Given the description of an element on the screen output the (x, y) to click on. 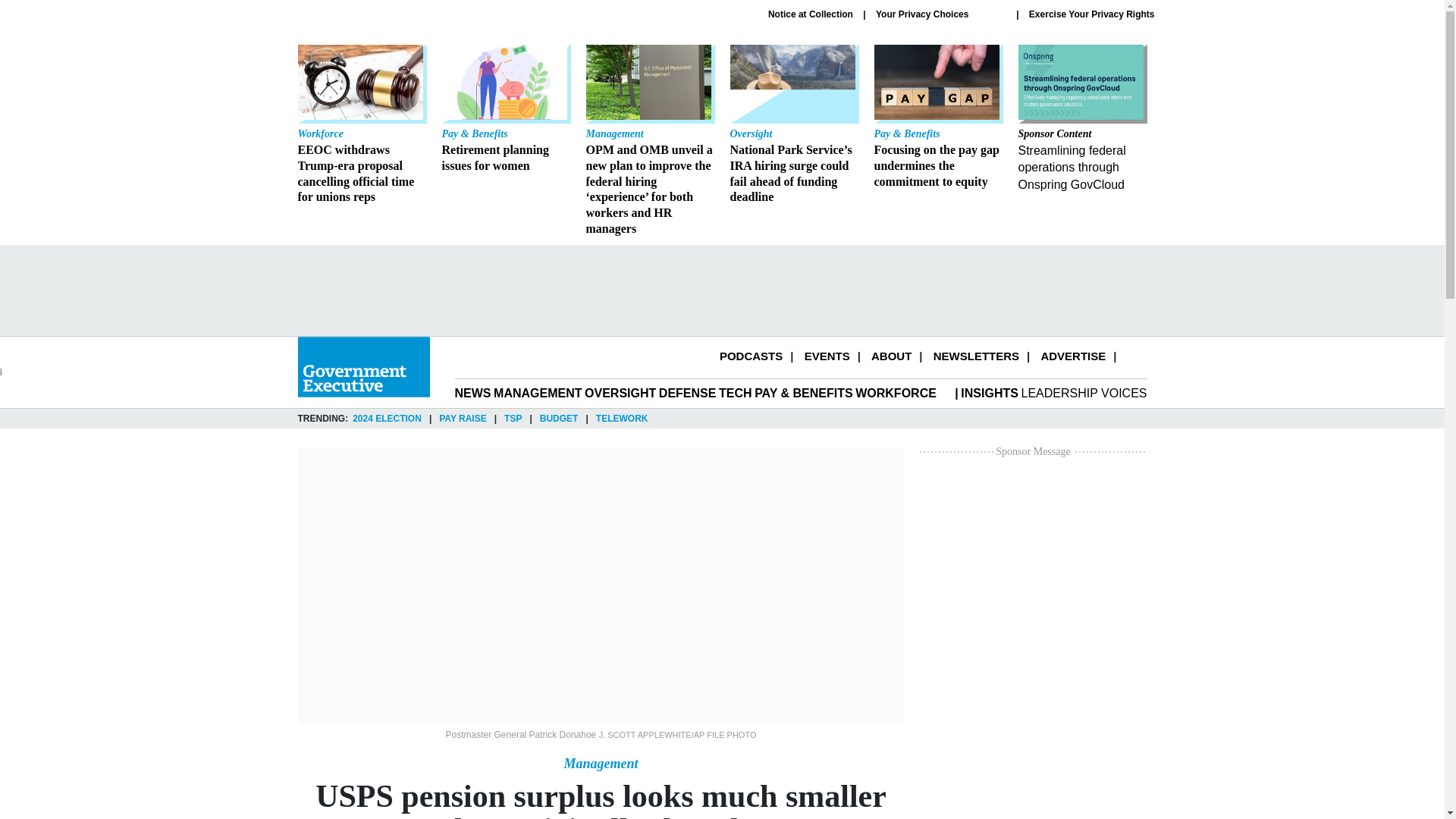
Notice at Collection (810, 14)
EVENTS (827, 355)
ADVERTISE (1073, 355)
Your Privacy Choices (941, 14)
Exercise Your Privacy Rights (1091, 14)
PODCASTS (751, 355)
3rd party ad content (721, 290)
NEWSLETTERS (976, 355)
ABOUT (890, 355)
